Given the description of an element on the screen output the (x, y) to click on. 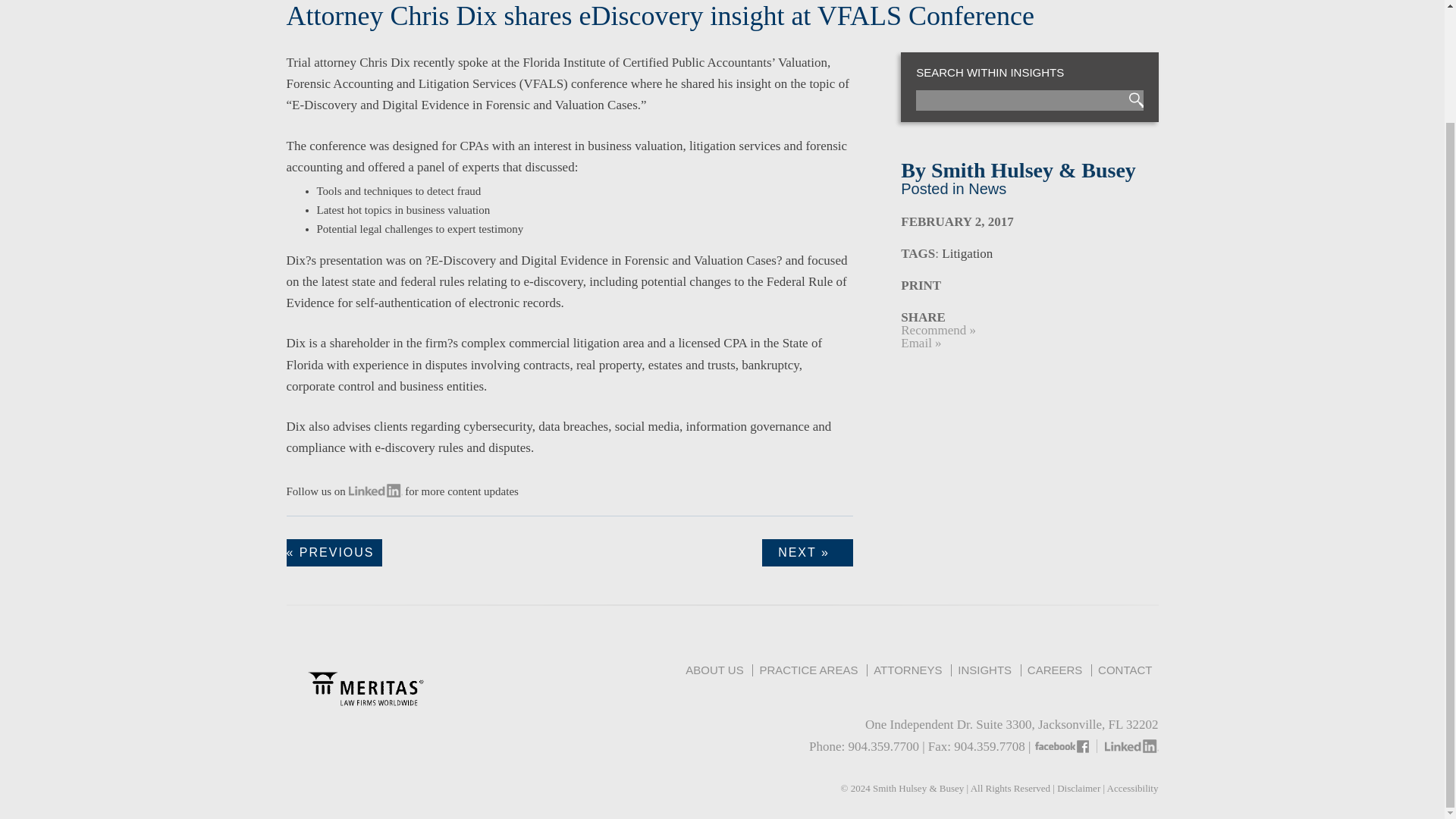
PRINT (920, 285)
Follow us on for more content updates (402, 491)
Litigation (967, 253)
News (987, 188)
